Given the description of an element on the screen output the (x, y) to click on. 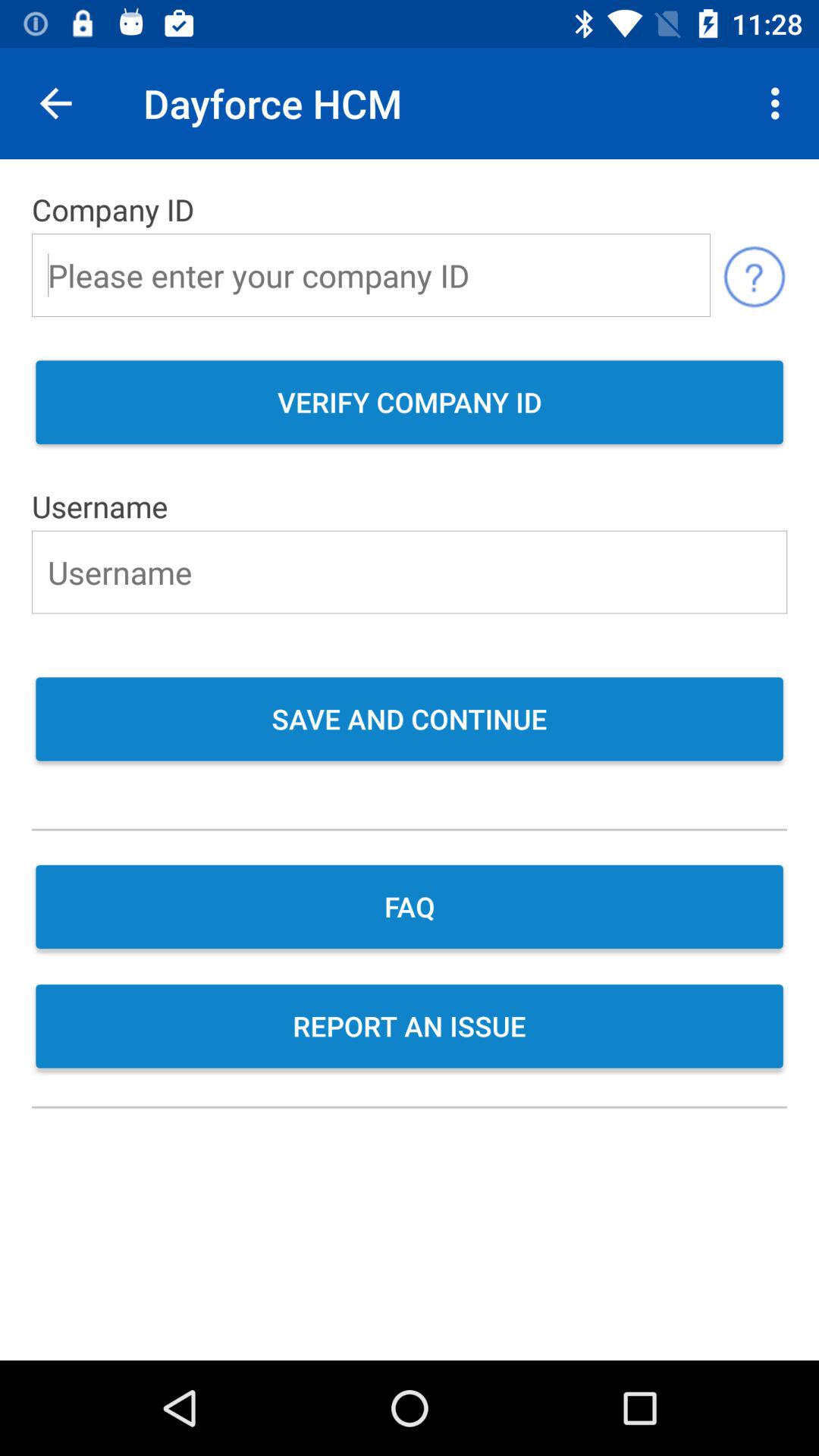
press the item to the left of dayforce hcm icon (55, 103)
